Given the description of an element on the screen output the (x, y) to click on. 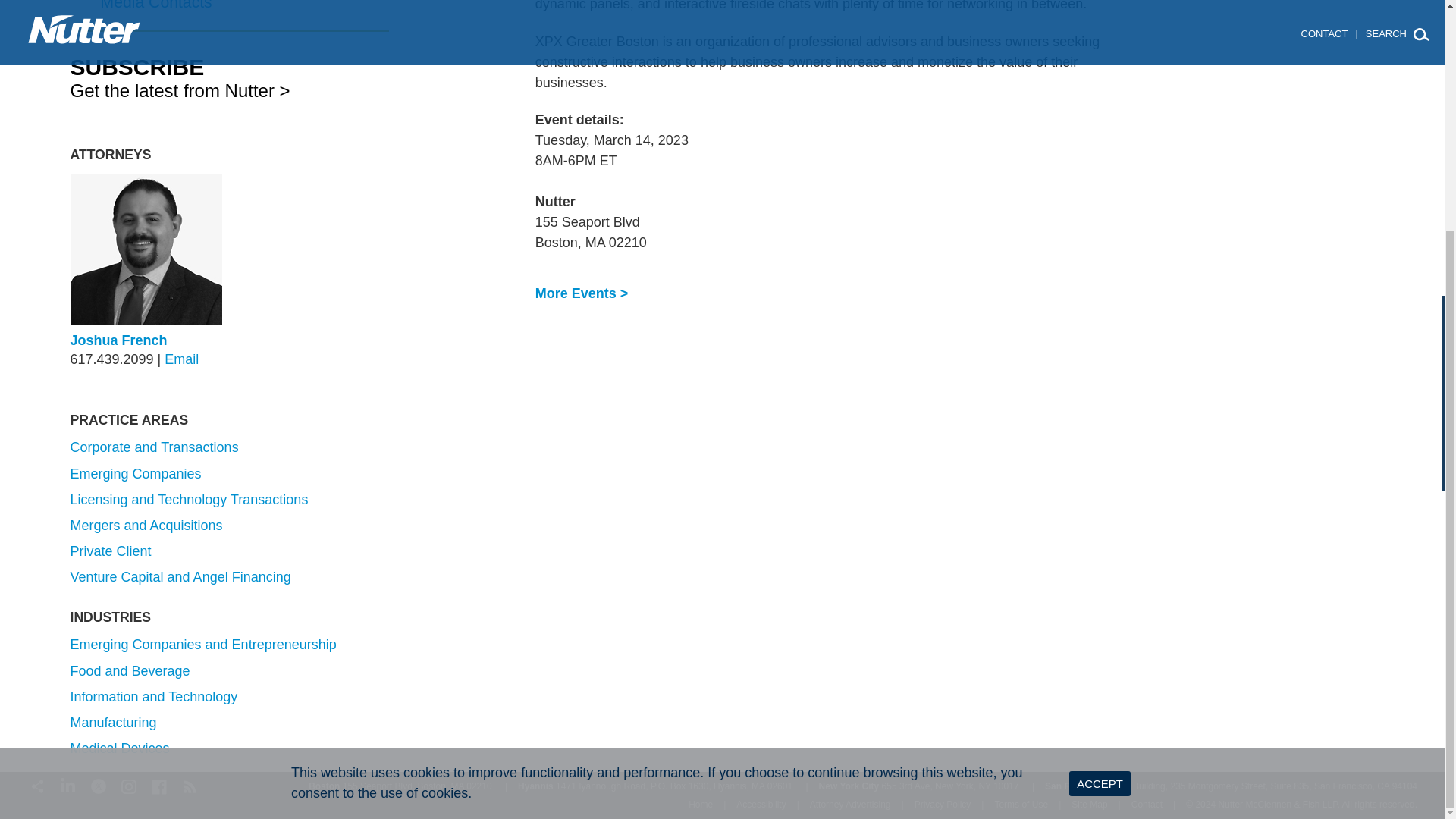
Facebook (159, 784)
Venture Capital and Angel Financing (179, 576)
Share (37, 784)
ACCEPT (1099, 471)
Email (181, 359)
Joshua French (118, 340)
Twitter (98, 784)
Instagram (128, 784)
RSS (189, 784)
Corporate and Transactions (153, 447)
